Given the description of an element on the screen output the (x, y) to click on. 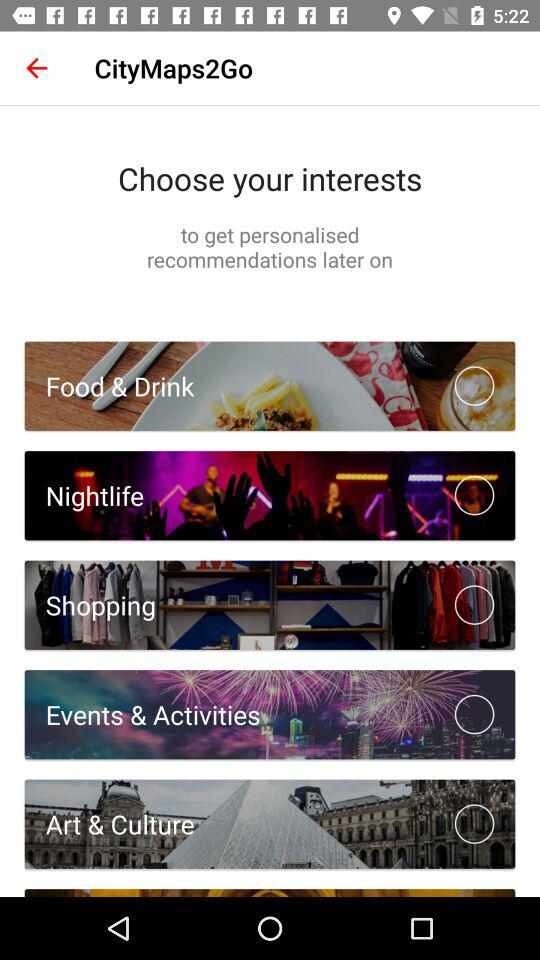
turn off shopping (90, 604)
